Given the description of an element on the screen output the (x, y) to click on. 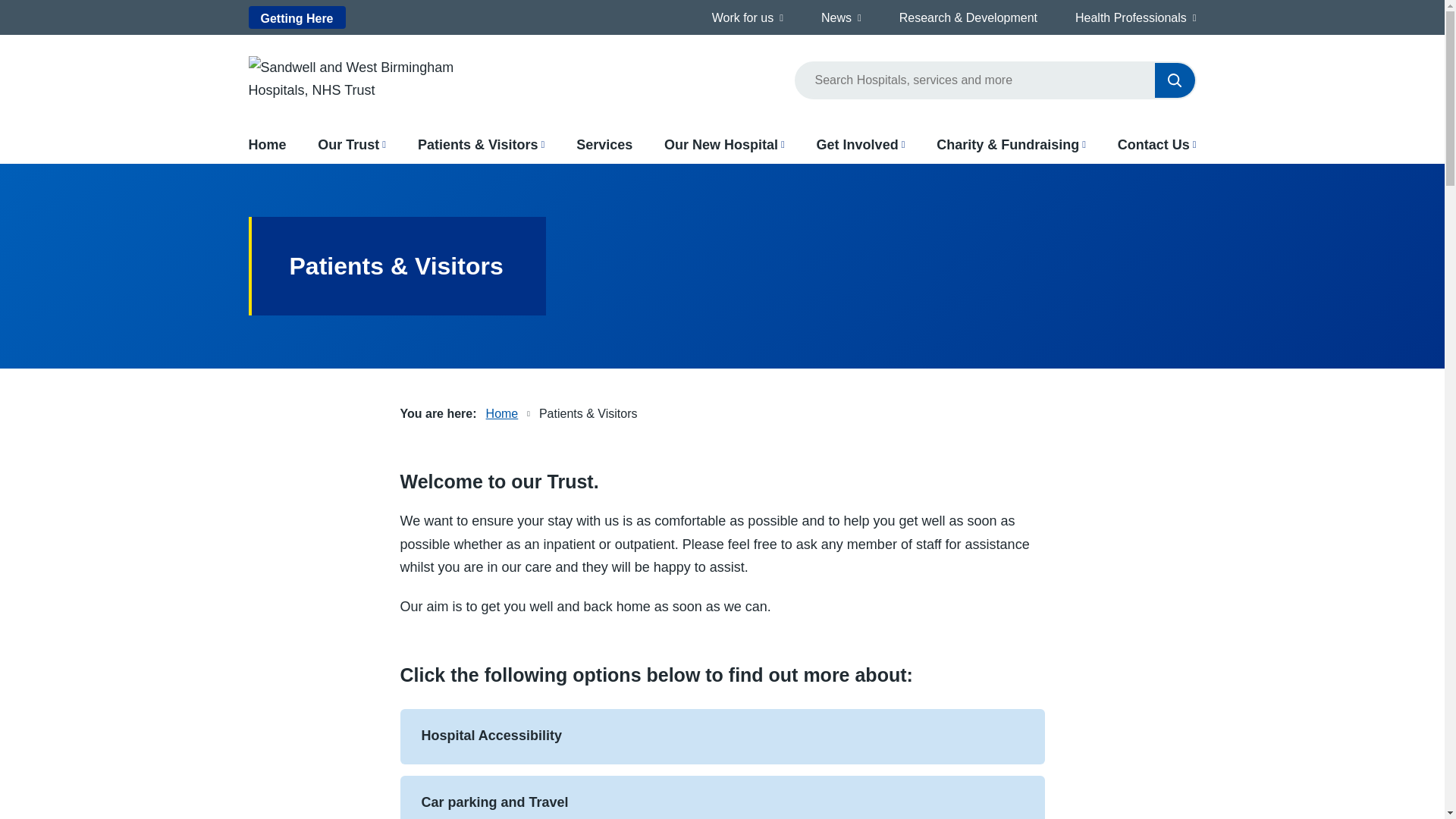
Getting Here (297, 16)
Health Professionals (1130, 17)
Work for us (742, 17)
Home (267, 144)
Our Trust (347, 144)
